Given the description of an element on the screen output the (x, y) to click on. 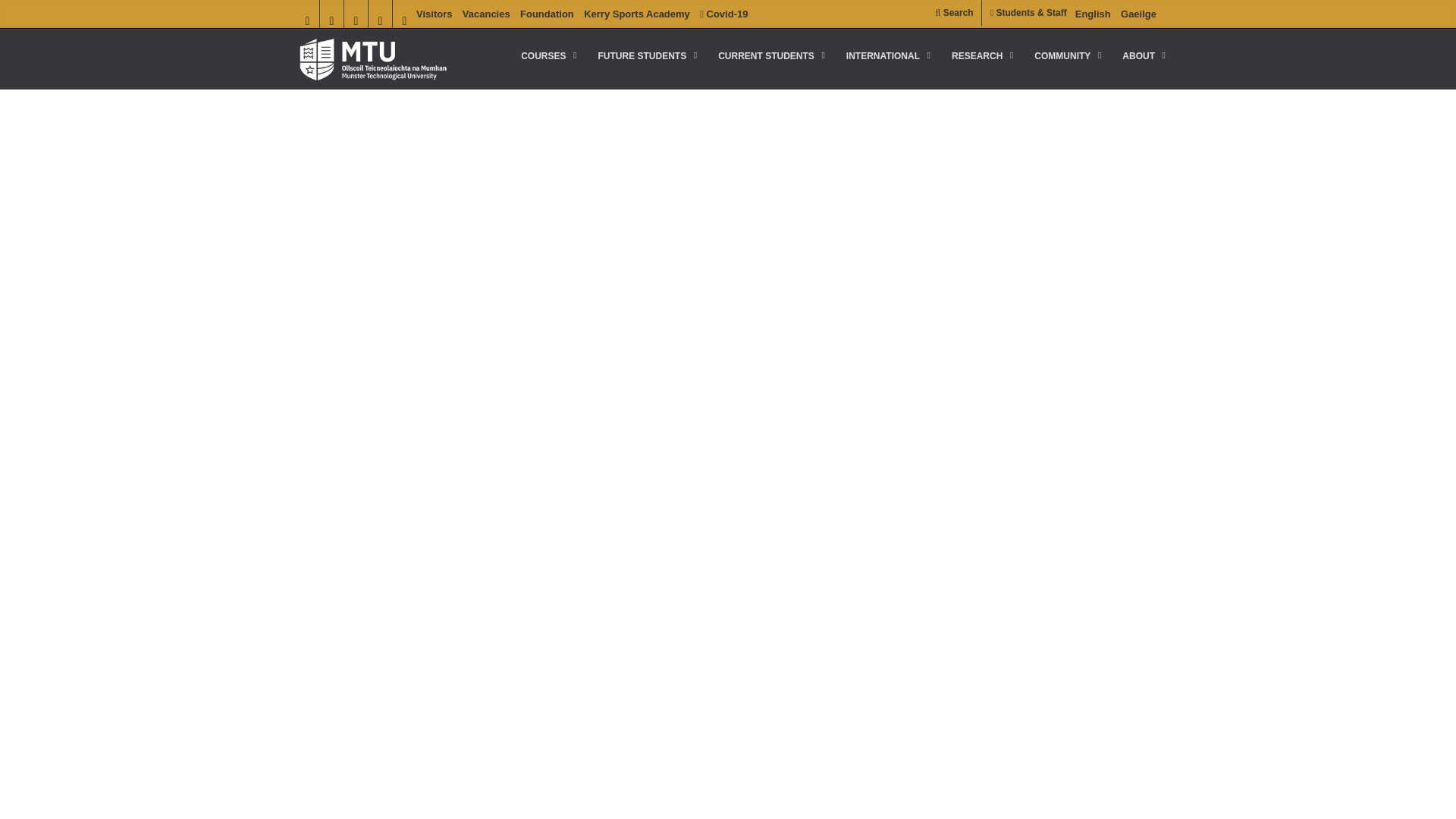
Vacancies (487, 13)
Kerry Sports Academy (636, 13)
Gaeilge (1138, 13)
Visitors (433, 13)
English (1092, 13)
Search (954, 13)
Covid-19 (724, 13)
Foundation (546, 13)
